Given the description of an element on the screen output the (x, y) to click on. 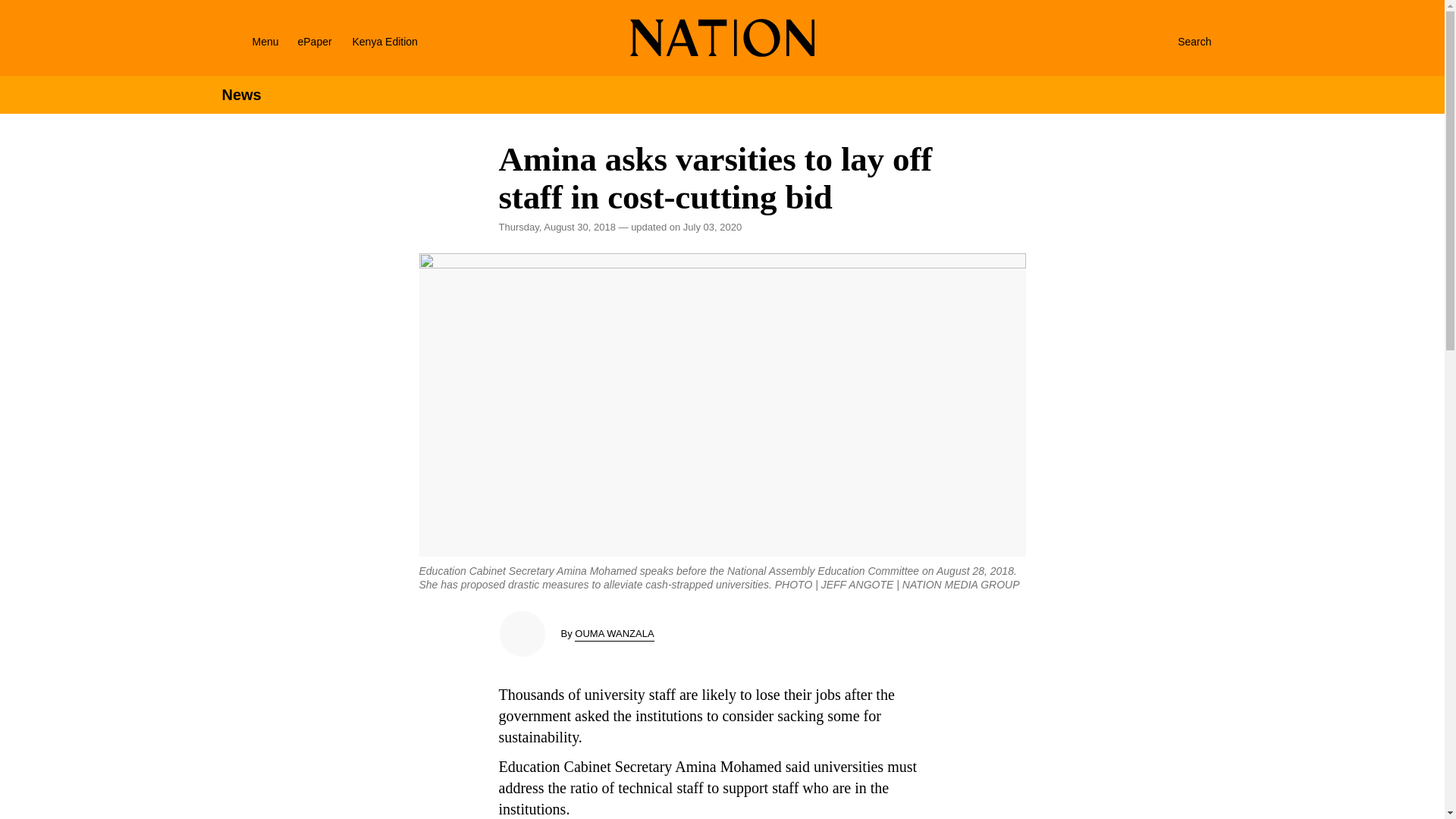
Menu (246, 41)
Search (1178, 41)
ePaper (314, 41)
Kenya Edition (398, 41)
News (240, 94)
